Given the description of an element on the screen output the (x, y) to click on. 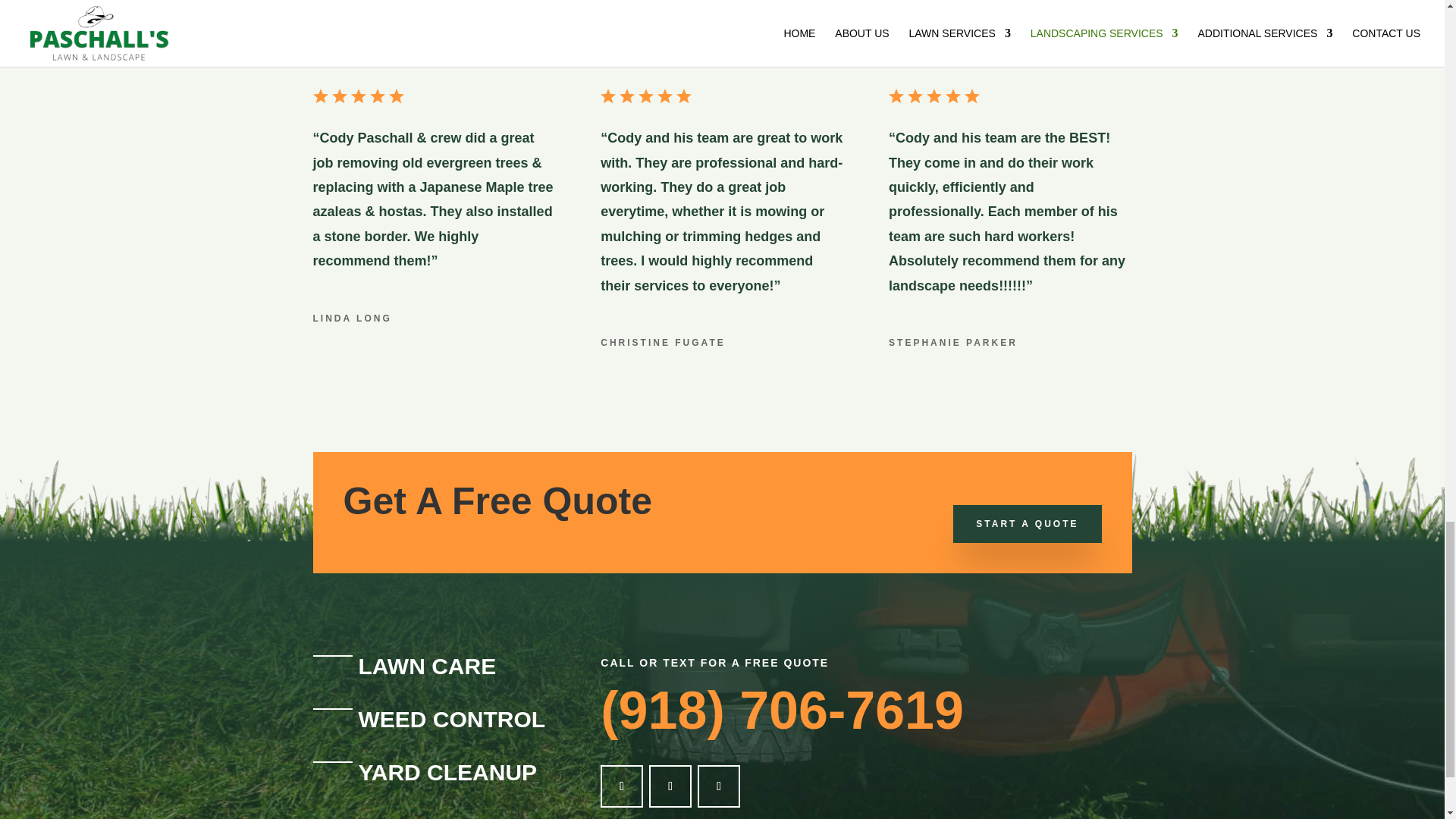
landscape-maintenance-09 (933, 96)
Follow on X (670, 785)
landscape-maintenance-09 (358, 96)
Follow on Facebook (621, 785)
landscape-maintenance-09 (645, 96)
Follow on Instagram (718, 785)
